Given the description of an element on the screen output the (x, y) to click on. 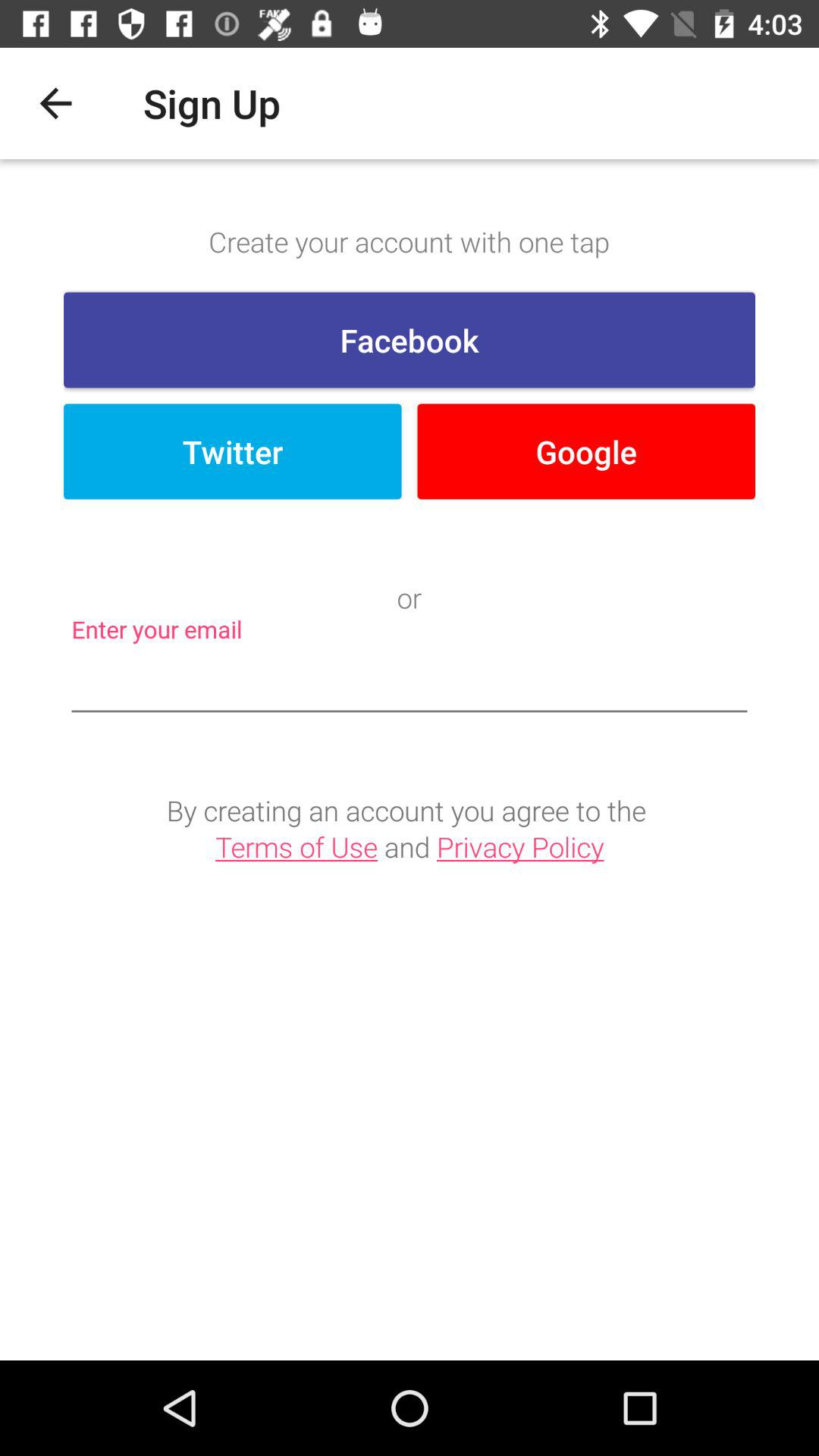
go to enter your email (409, 683)
